Given the description of an element on the screen output the (x, y) to click on. 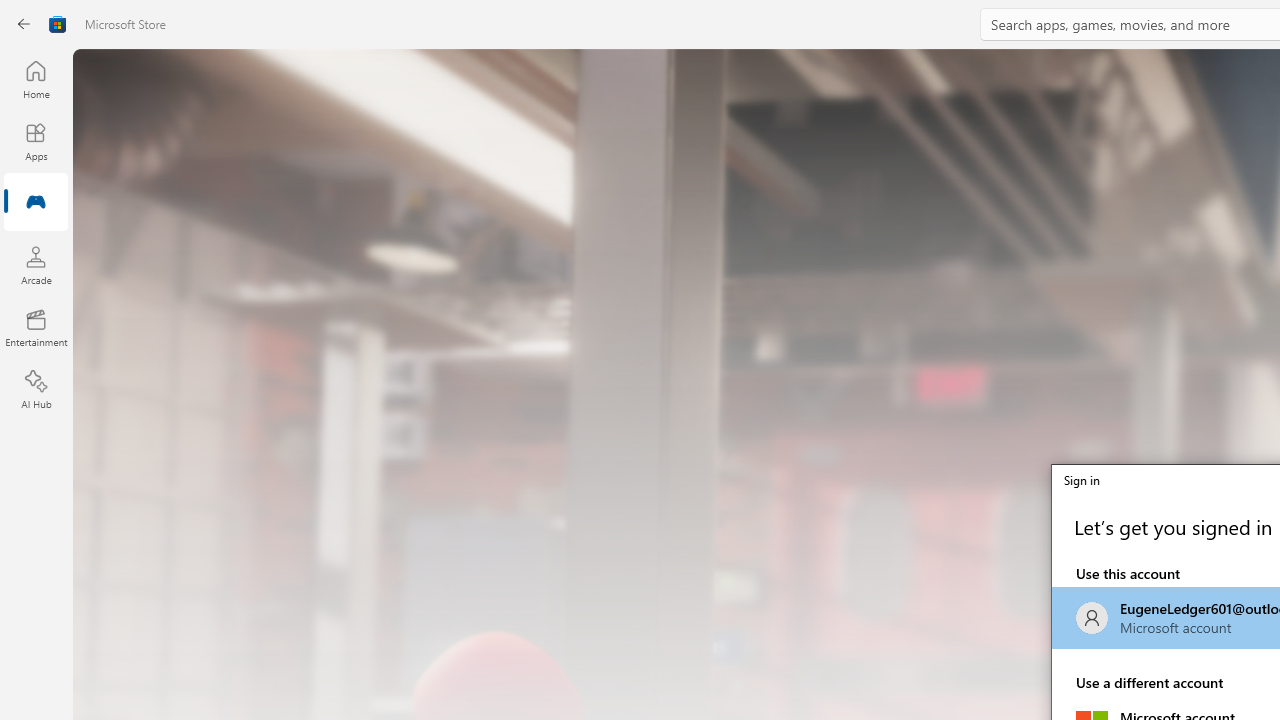
Back (24, 24)
